Given the description of an element on the screen output the (x, y) to click on. 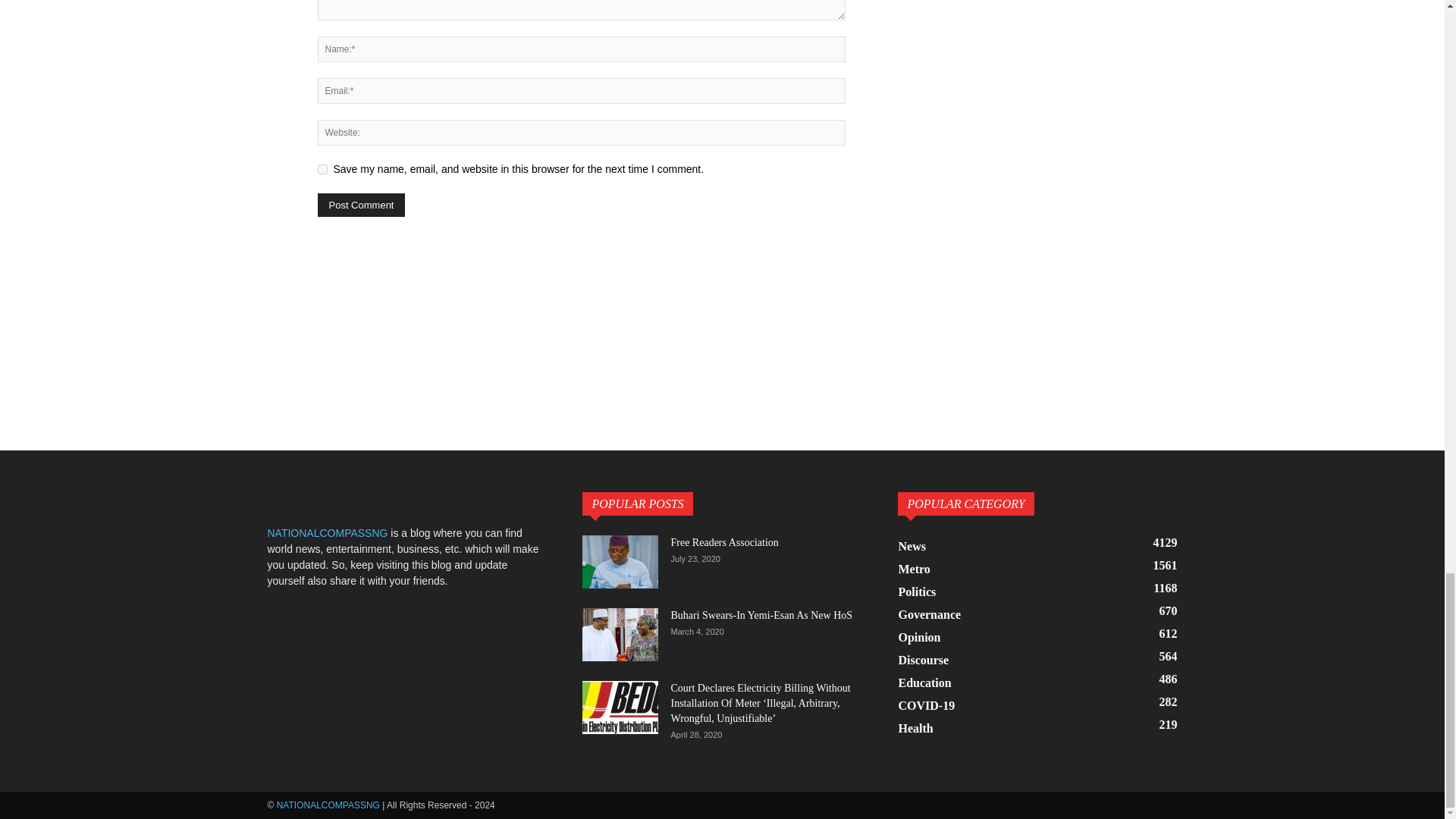
Post Comment (360, 205)
yes (321, 169)
